Given the description of an element on the screen output the (x, y) to click on. 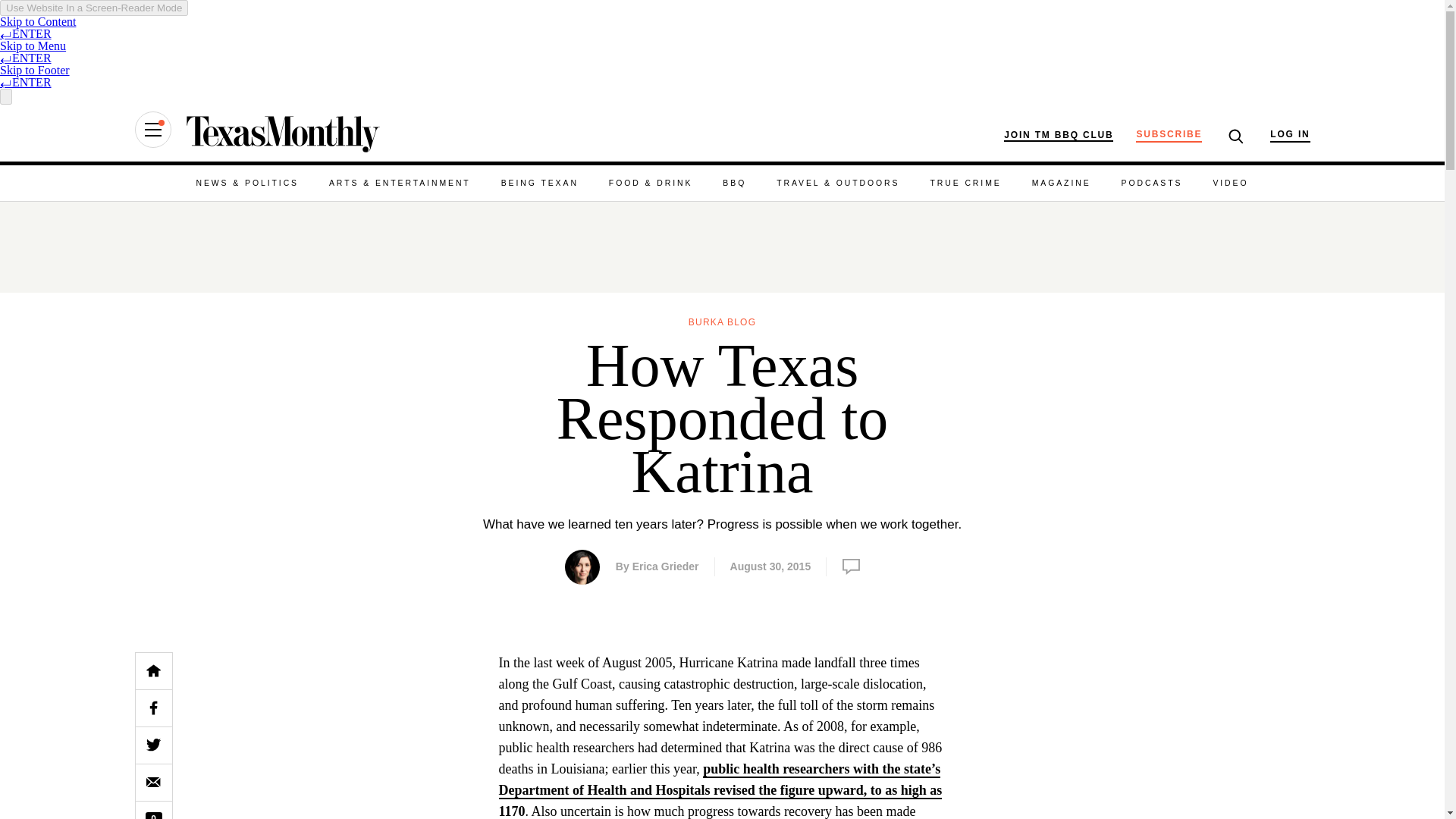
3rd party ad content (1196, 735)
